Given the description of an element on the screen output the (x, y) to click on. 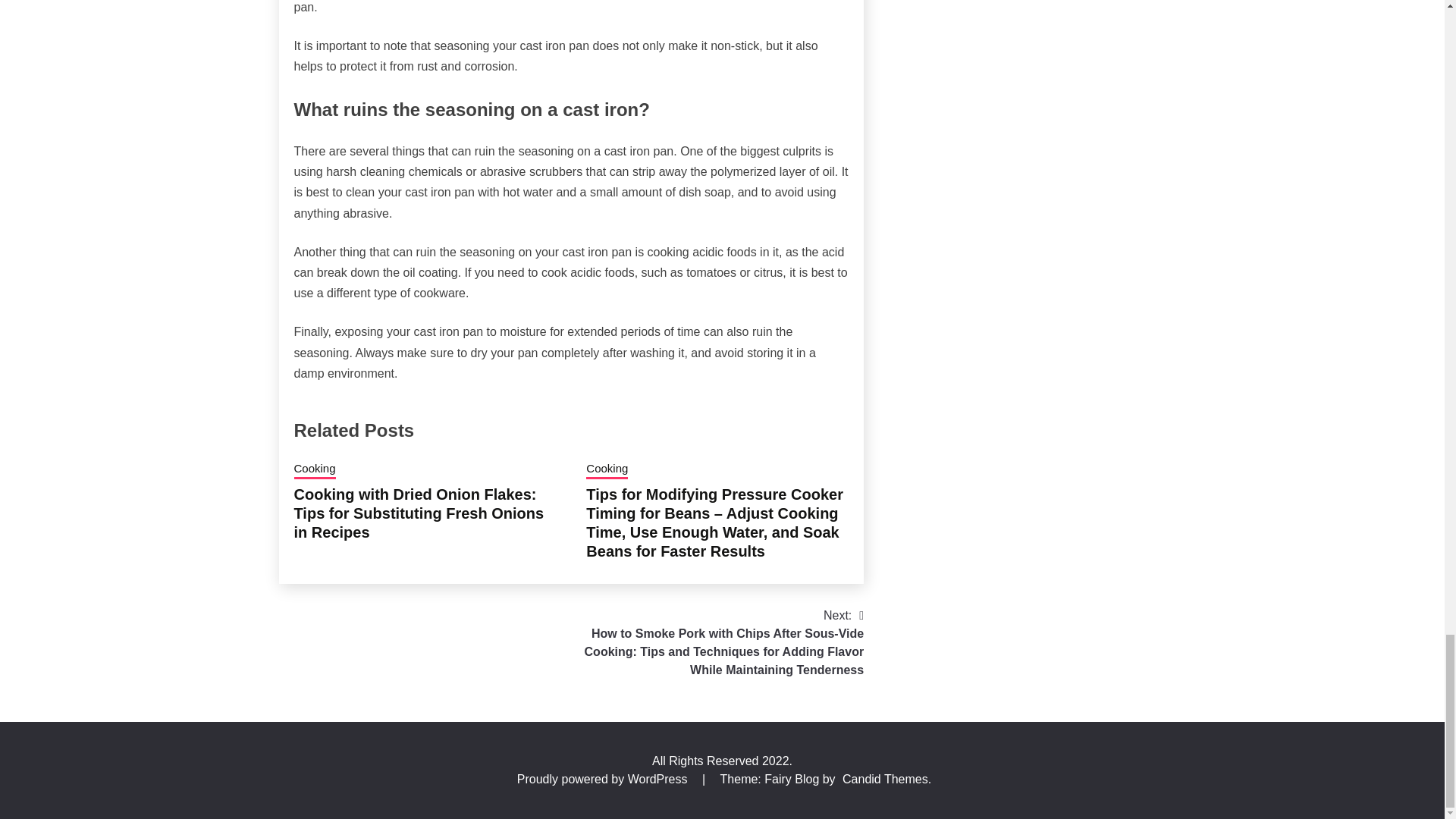
Candid Themes (885, 779)
Cooking (606, 469)
Proudly powered by WordPress (603, 779)
Cooking (315, 469)
